Given the description of an element on the screen output the (x, y) to click on. 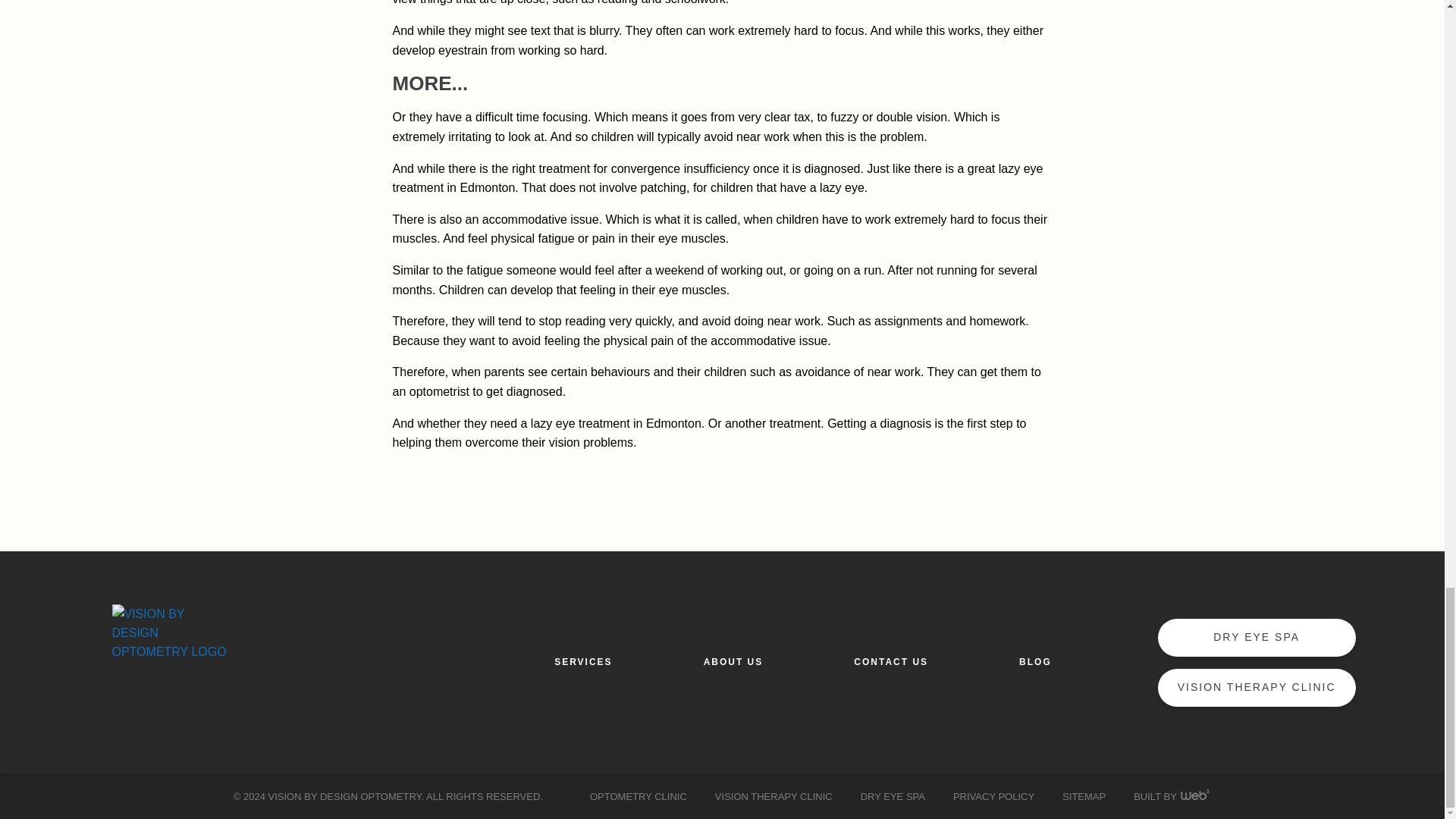
VISION THERAPY CLINIC (773, 796)
PRIVACY POLICY (993, 796)
SERVICES (582, 661)
VISION THERAPY CLINIC (1256, 686)
DRY EYE SPA (1256, 637)
BLOG (1035, 661)
SITEMAP (1083, 796)
CONTACT US (890, 661)
ABOUT US (732, 661)
OPTOMETRY CLINIC (638, 796)
DRY EYE SPA (892, 796)
